Given the description of an element on the screen output the (x, y) to click on. 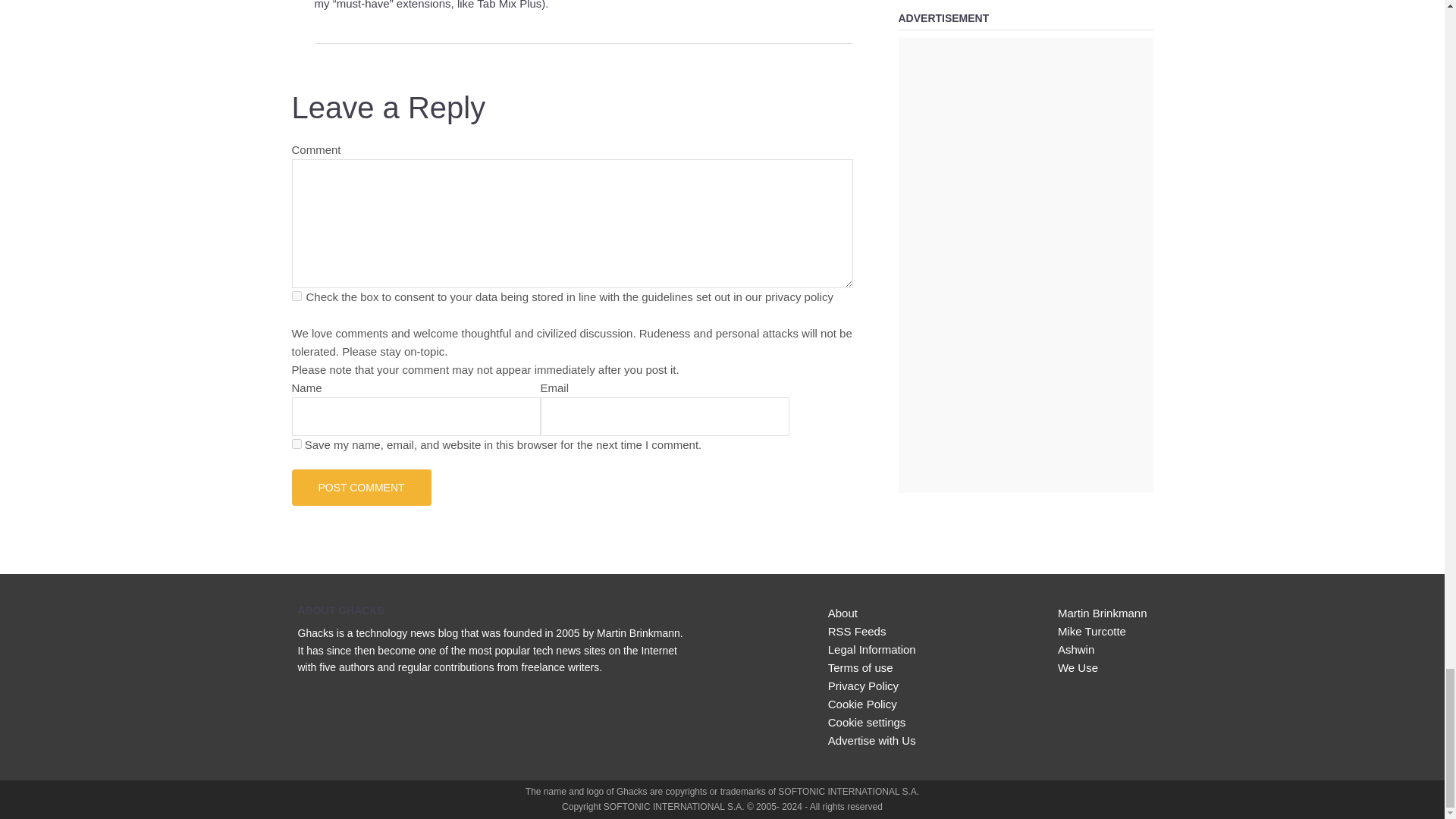
yes (296, 443)
Post Comment (360, 487)
privacy-key (296, 296)
